Given the description of an element on the screen output the (x, y) to click on. 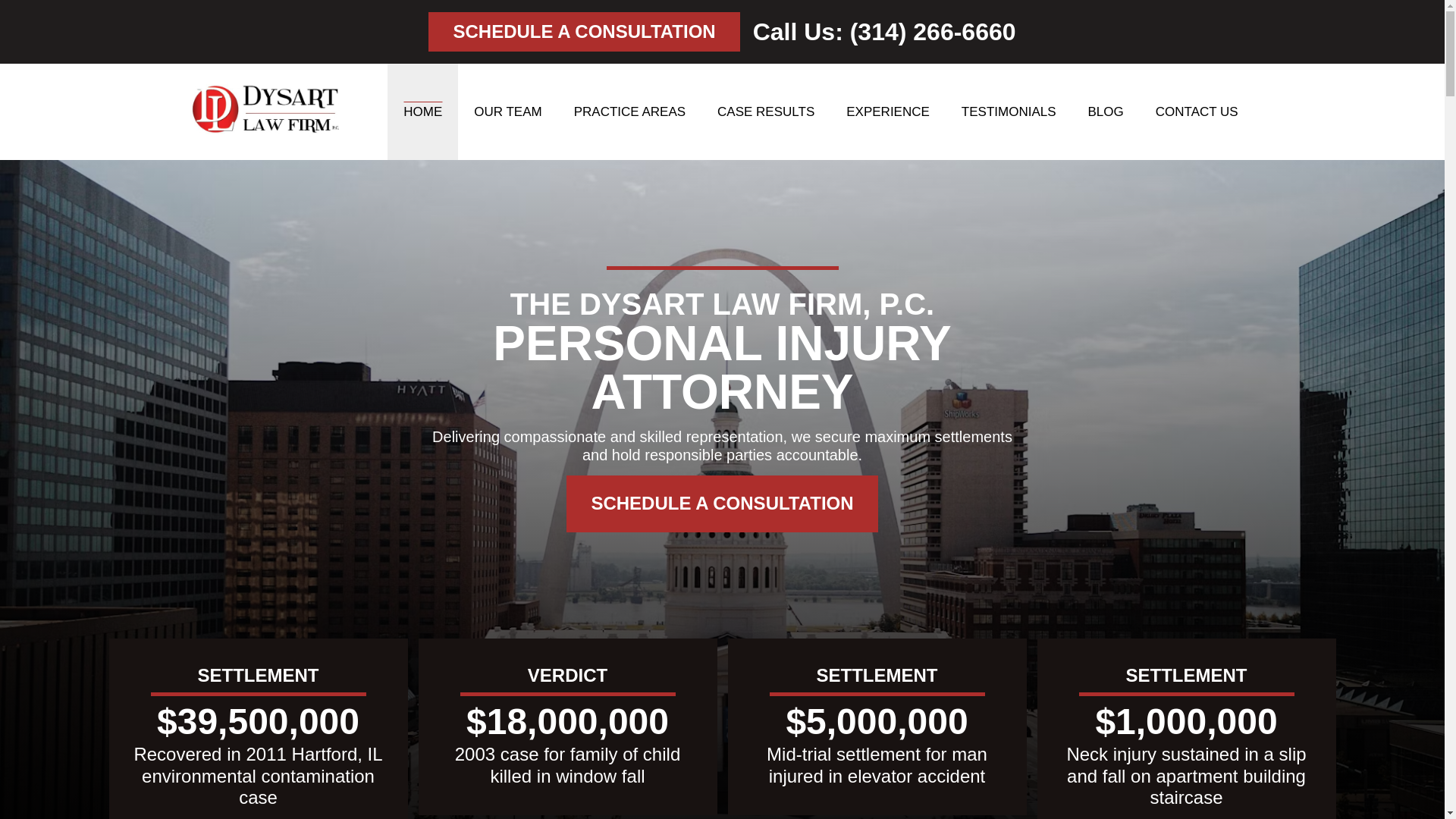
PRACTICE AREAS (629, 111)
SCHEDULE A CONSULTATION (721, 503)
OUR TEAM (507, 111)
CASE RESULTS (765, 111)
CONTACT US (1196, 111)
SCHEDULE A CONSULTATION (583, 31)
TESTIMONIALS (1007, 111)
EXPERIENCE (886, 111)
